Given the description of an element on the screen output the (x, y) to click on. 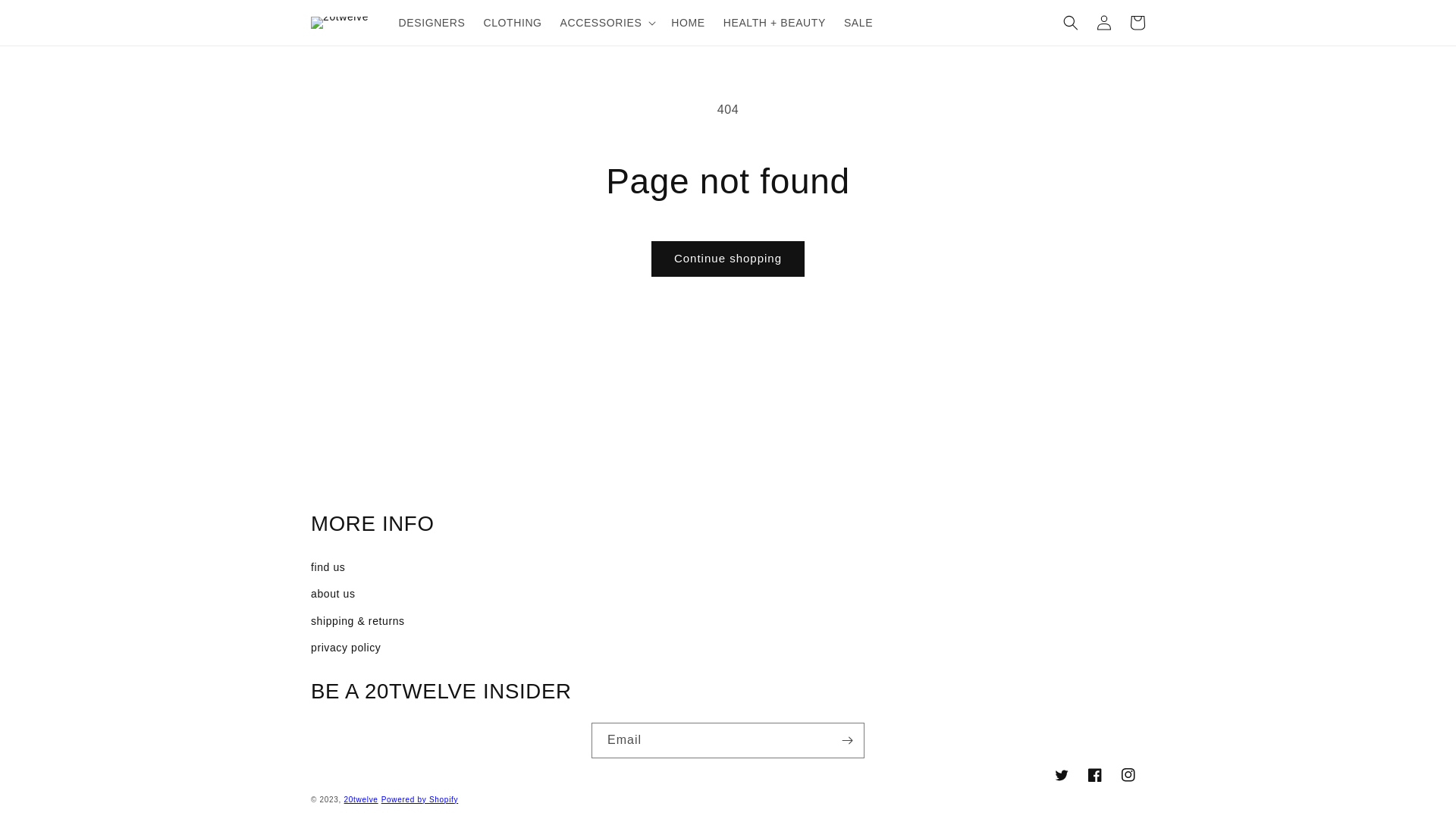
Powered by Shopify Element type: text (419, 799)
Continue shopping Element type: text (727, 258)
shipping & returns Element type: text (727, 621)
Instagram Element type: text (1128, 774)
about us Element type: text (727, 593)
CLOTHING Element type: text (511, 22)
Facebook Element type: text (1094, 774)
HEALTH + BEAUTY Element type: text (774, 22)
HOME Element type: text (687, 22)
Twitter Element type: text (1061, 774)
Log in Element type: text (1103, 22)
DESIGNERS Element type: text (431, 22)
20twelve Element type: text (361, 799)
privacy policy Element type: text (727, 647)
find us Element type: text (727, 567)
SALE Element type: text (857, 22)
Cart Element type: text (1137, 22)
